Given the description of an element on the screen output the (x, y) to click on. 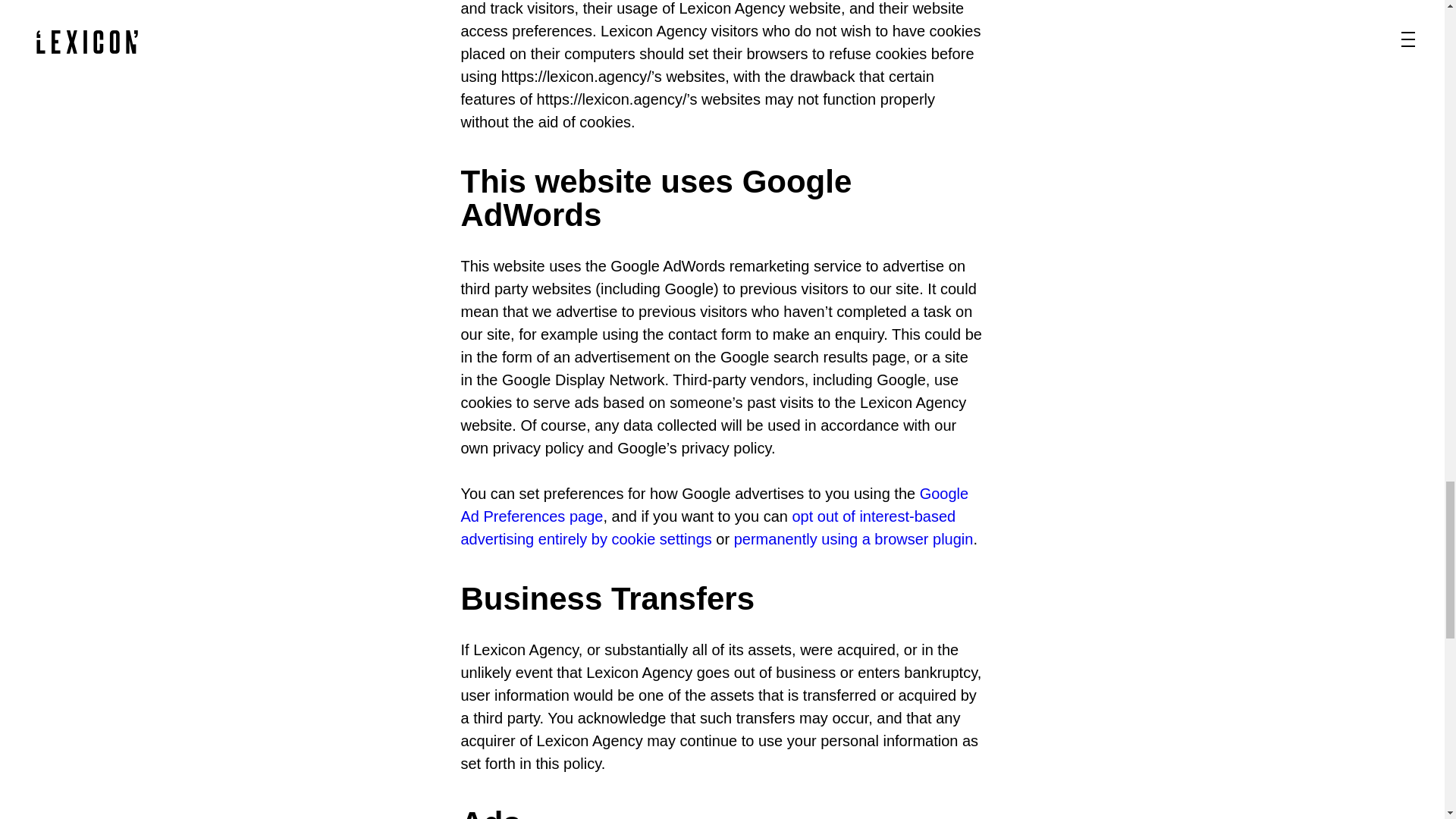
permanently using a browser plugin (853, 538)
Google Ad Preferences page (715, 504)
